Given the description of an element on the screen output the (x, y) to click on. 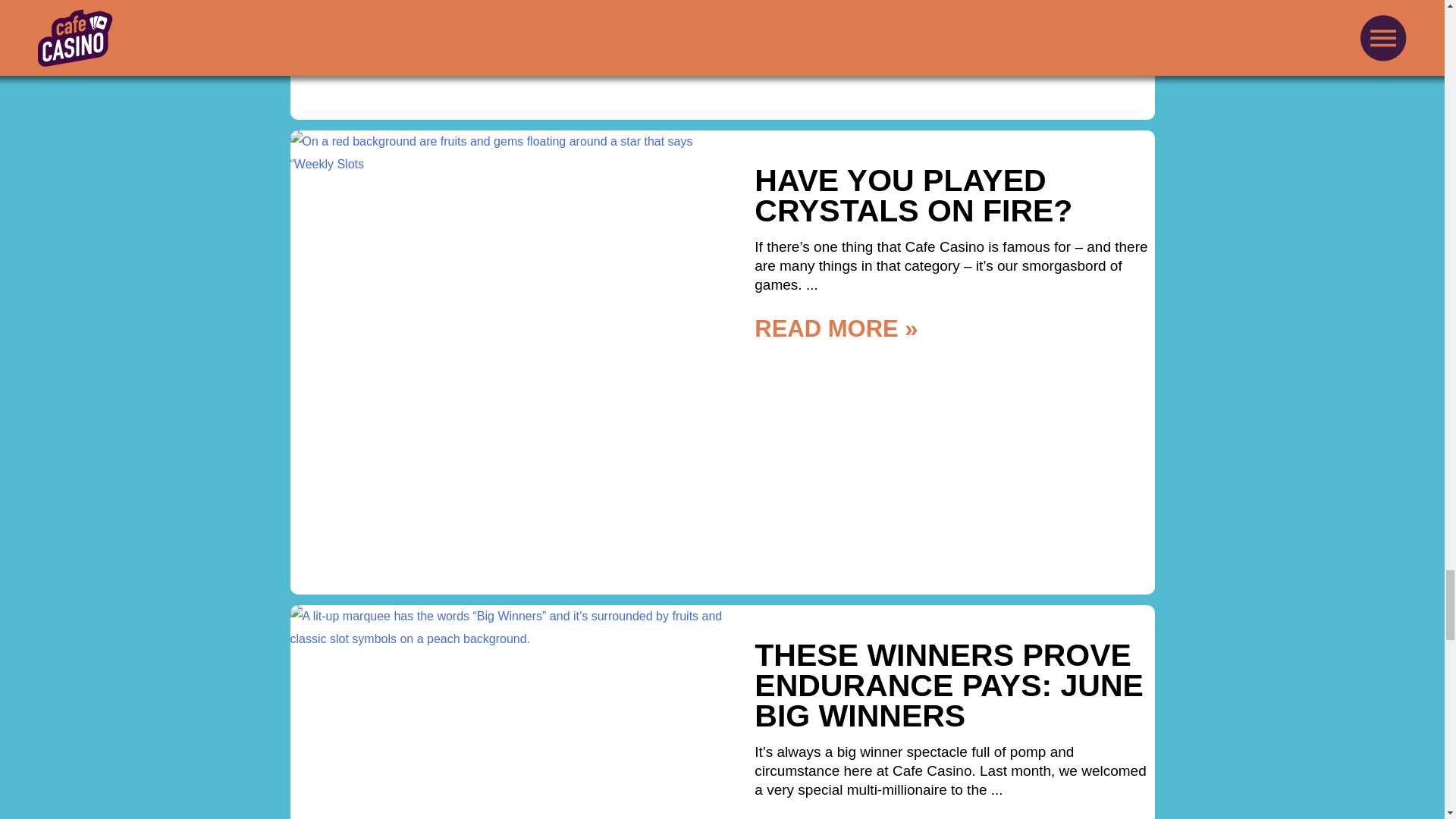
HAVE YOU PLAYED CRYSTALS ON FIRE? (912, 195)
THESE WINNERS PROVE ENDURANCE PAYS: JUNE BIG WINNERS (948, 685)
